Given the description of an element on the screen output the (x, y) to click on. 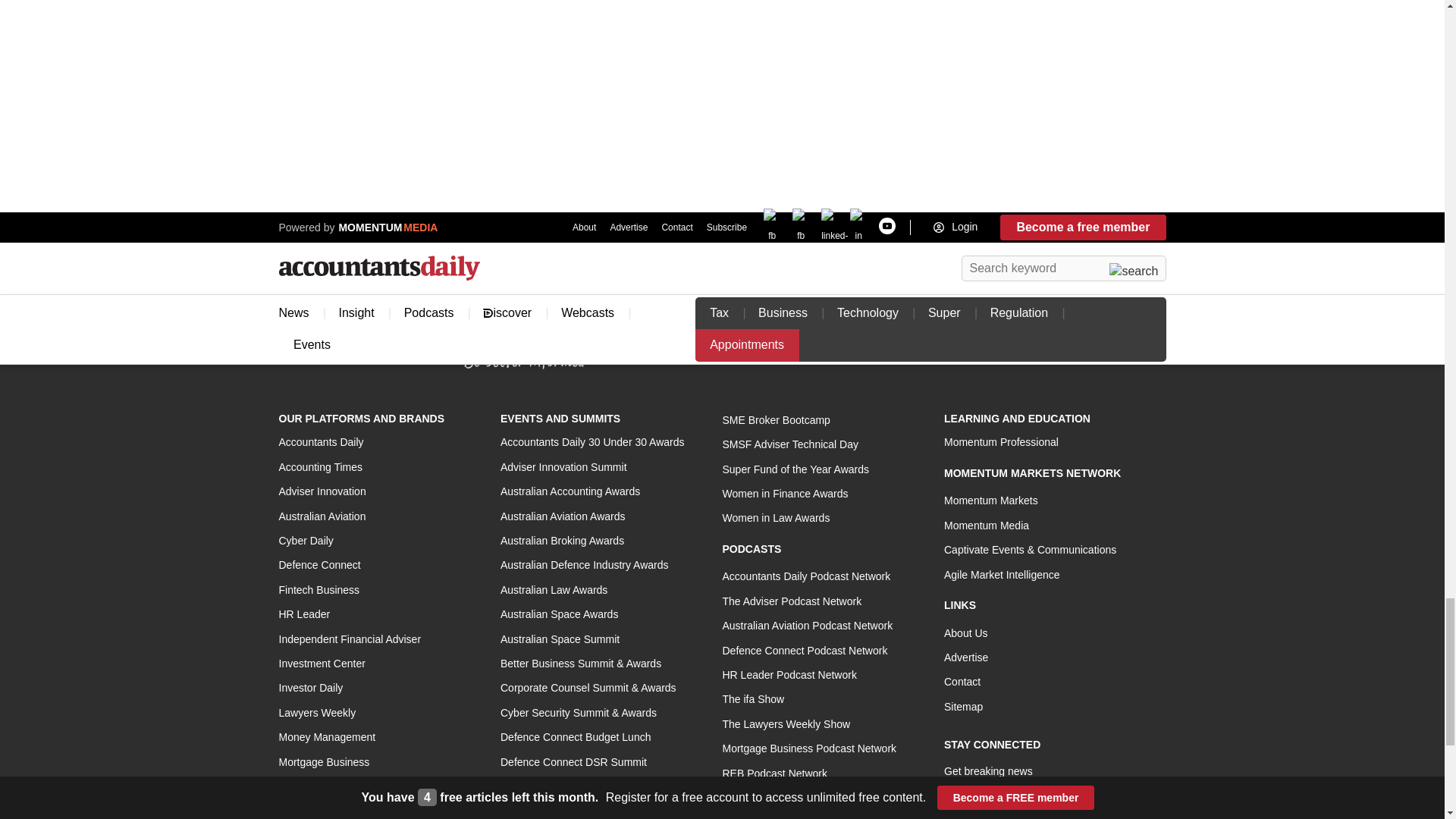
SUBCRIBE (1132, 800)
